Given the description of an element on the screen output the (x, y) to click on. 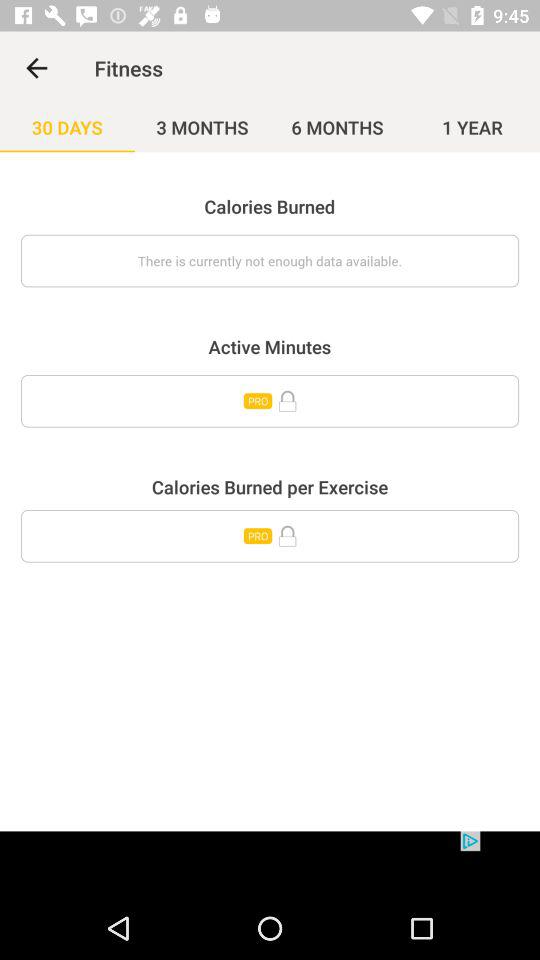
tap the item above the 30 days (36, 68)
